Given the description of an element on the screen output the (x, y) to click on. 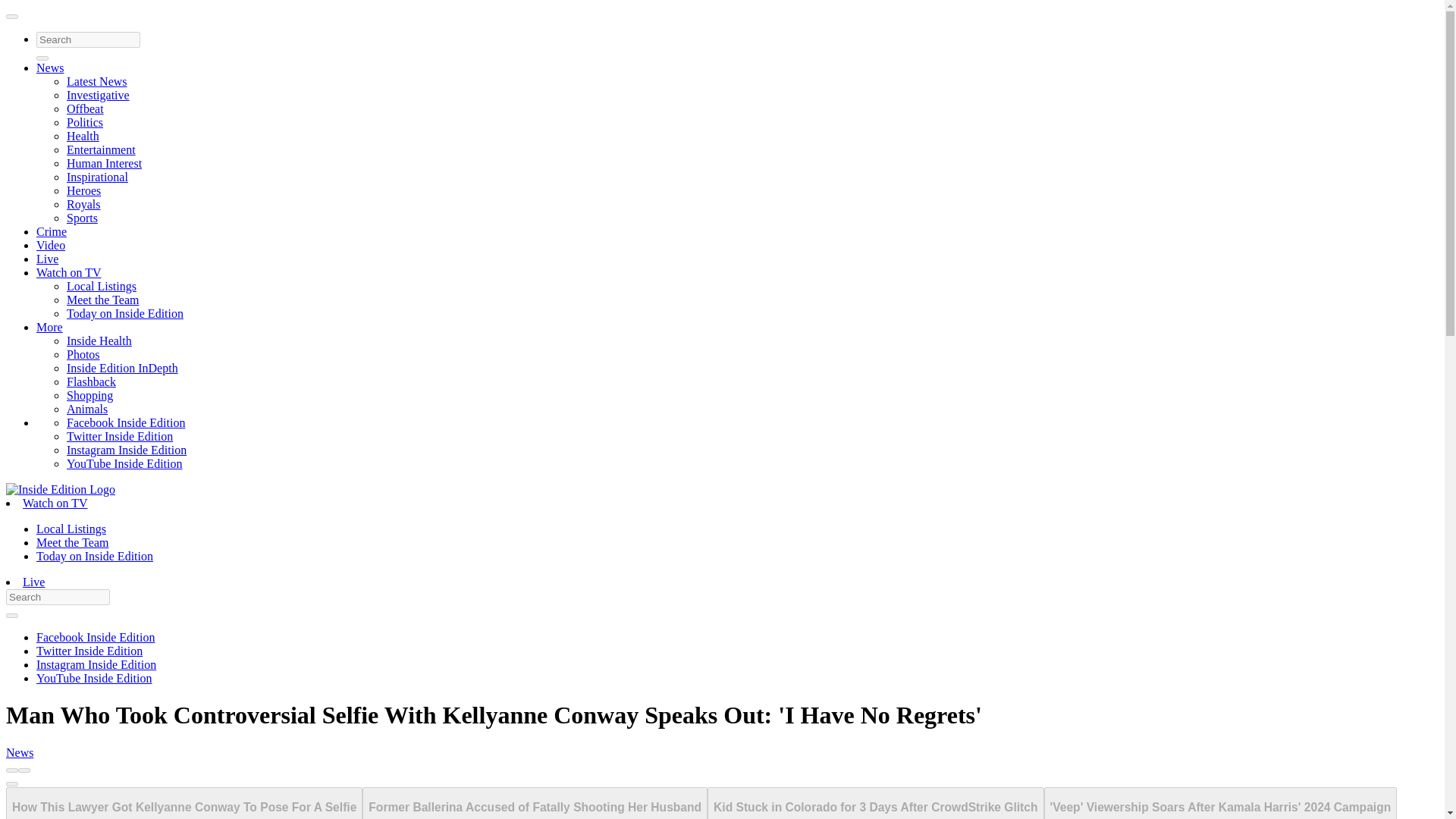
Latest News (97, 81)
News (50, 67)
Crime (51, 231)
Entertainment (100, 149)
Local Listings (71, 528)
Instagram Inside Edition (126, 449)
Photos (83, 354)
Offbeat (84, 108)
Today on Inside Edition (94, 555)
YouTube Inside Edition (124, 463)
Facebook Inside Edition (125, 422)
Meet the Team (102, 299)
Inside Edition InDepth (121, 367)
Twitter Inside Edition (119, 436)
More (49, 327)
